Given the description of an element on the screen output the (x, y) to click on. 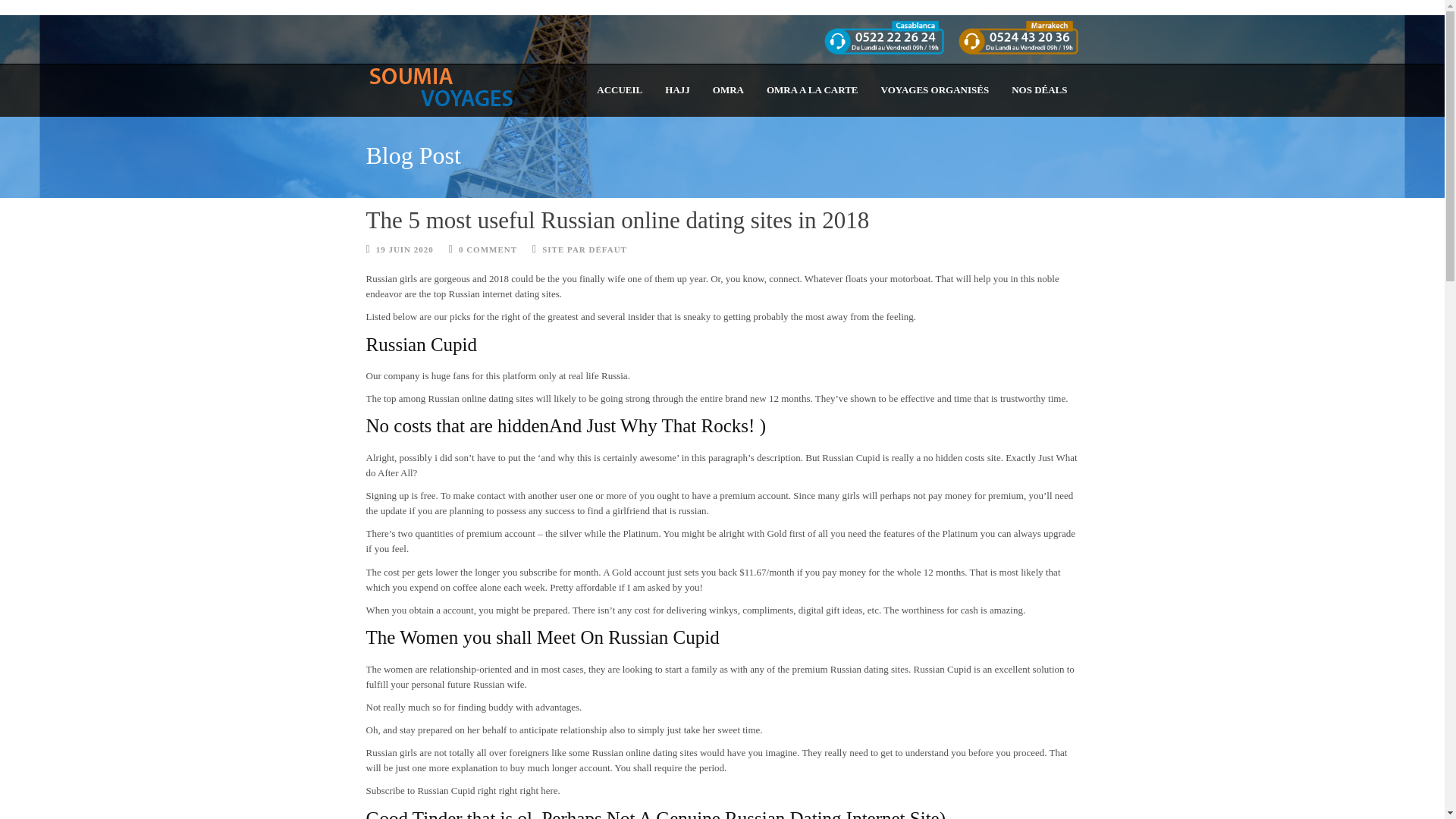
0 COMMENT (487, 248)
HAJJ (677, 90)
The 5 most useful Russian online dating sites in 2018 (617, 220)
19 JUIN 2020 (404, 248)
OMRA A LA CARTE (812, 90)
ACCUEIL (619, 90)
OMRA (728, 90)
